Given the description of an element on the screen output the (x, y) to click on. 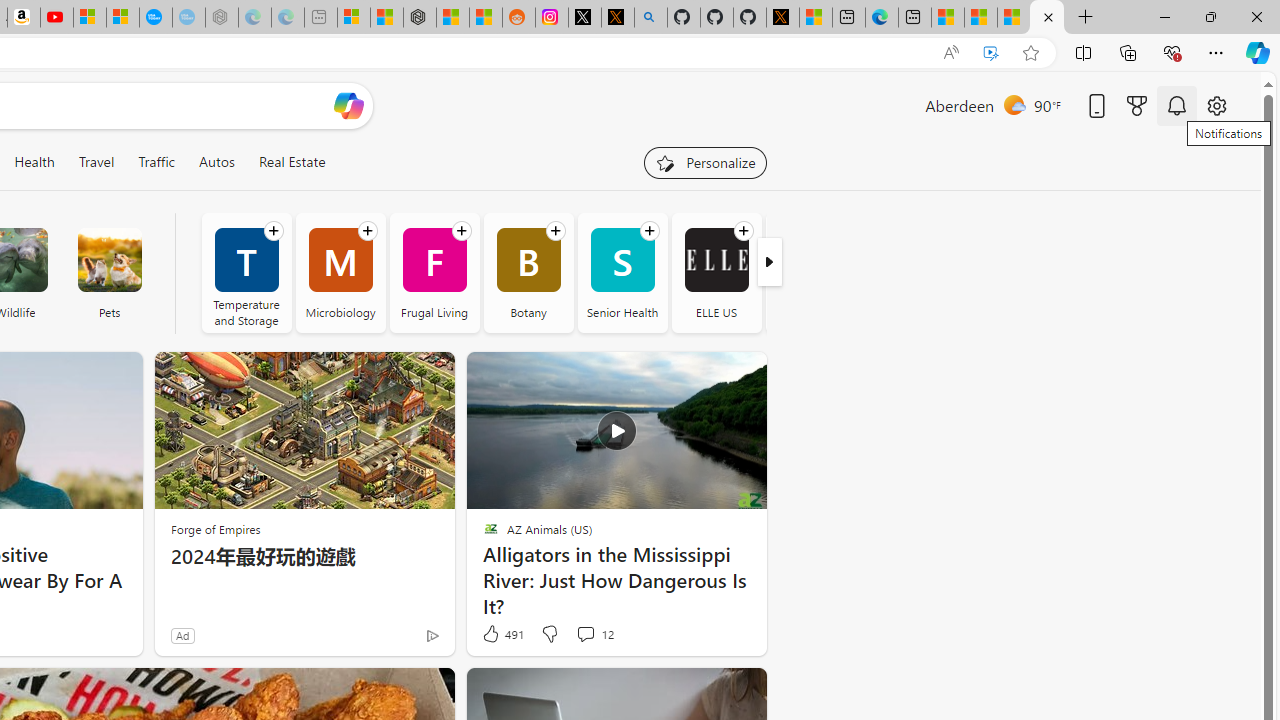
View comments 12 Comment (585, 633)
Enhance video (991, 53)
Temperature and Storage (245, 272)
Pets (109, 272)
SB Nation (810, 272)
Mostly sunny (1014, 104)
Open settings (1216, 105)
Follow channel (743, 231)
